Given the description of an element on the screen output the (x, y) to click on. 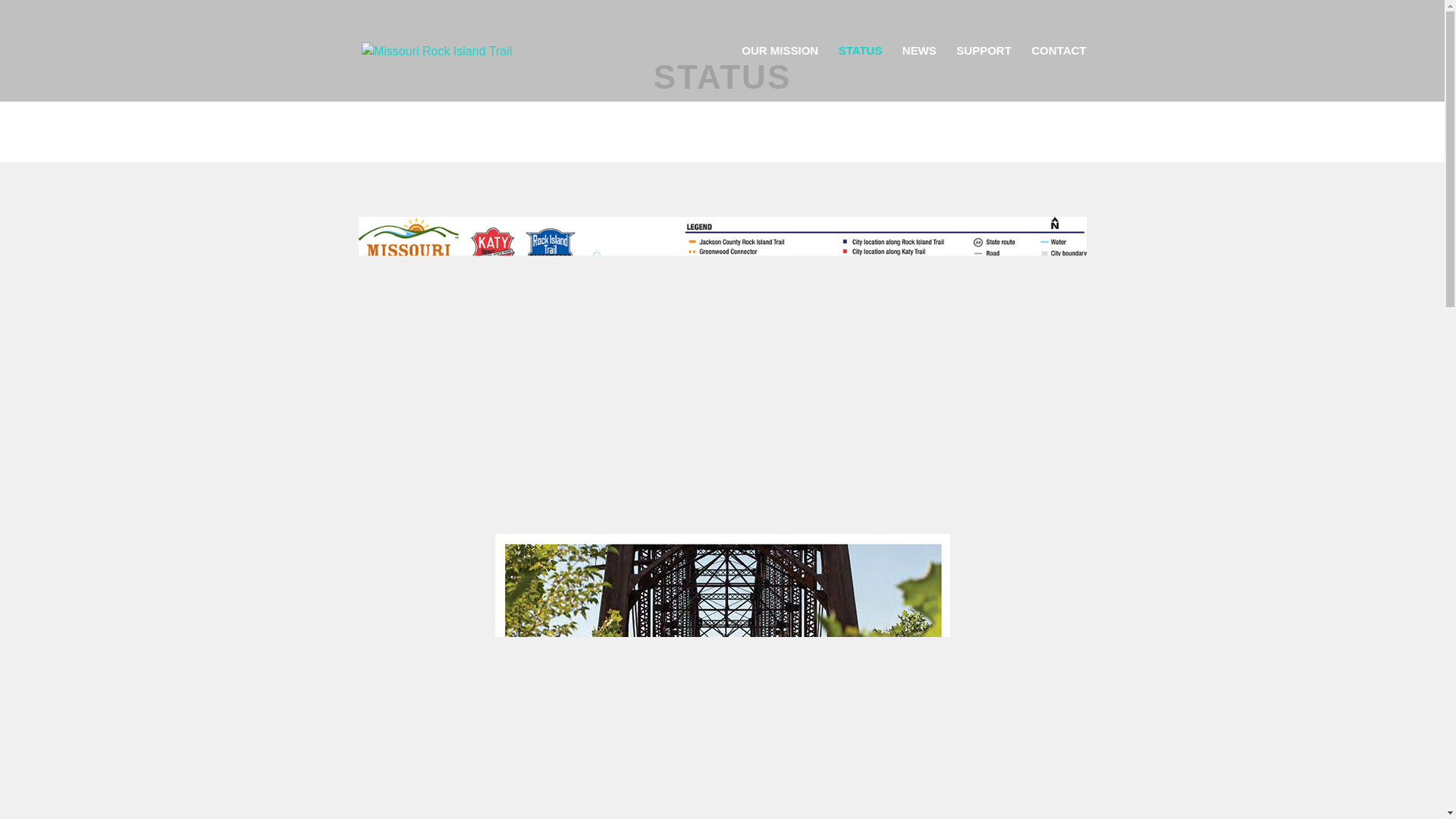
RockIslandTrailStateParkMasterPlanCover (722, 676)
CONTACT (1058, 73)
OUR MISSION (779, 73)
SUPPORT (983, 73)
